Given the description of an element on the screen output the (x, y) to click on. 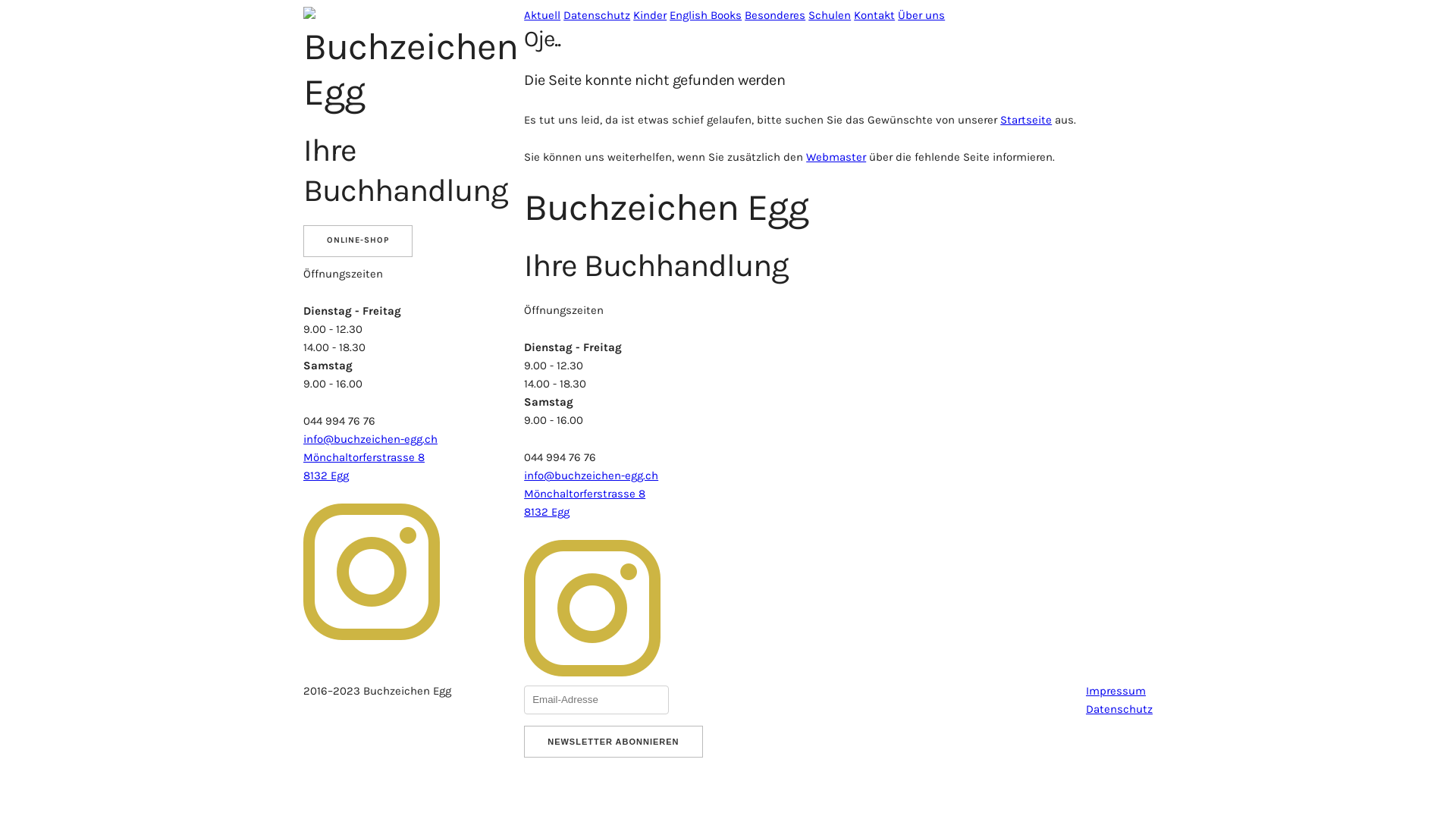
Instagram Account und Story vom Buchzeichen Egg Element type: hover (371, 571)
info@buchzeichen-egg.ch Element type: text (591, 475)
Impressum Element type: text (1115, 690)
Aktuell Element type: text (542, 14)
Kinder Element type: text (649, 14)
Datenschutz Element type: text (1118, 708)
Schulen Element type: text (829, 14)
Besonderes Element type: text (774, 14)
home Element type: hover (309, 14)
ONLINE-SHOP Element type: text (357, 241)
Kontakt Element type: text (873, 14)
Newsletter abonnieren Element type: text (613, 740)
Webmaster Element type: text (836, 156)
English Books Element type: text (705, 14)
Startseite Element type: text (1025, 119)
Datenschutz Element type: text (596, 14)
Instagram Account und Story vom Buchzeichen Egg Element type: hover (592, 607)
info@buchzeichen-egg.ch Element type: text (370, 438)
